Given the description of an element on the screen output the (x, y) to click on. 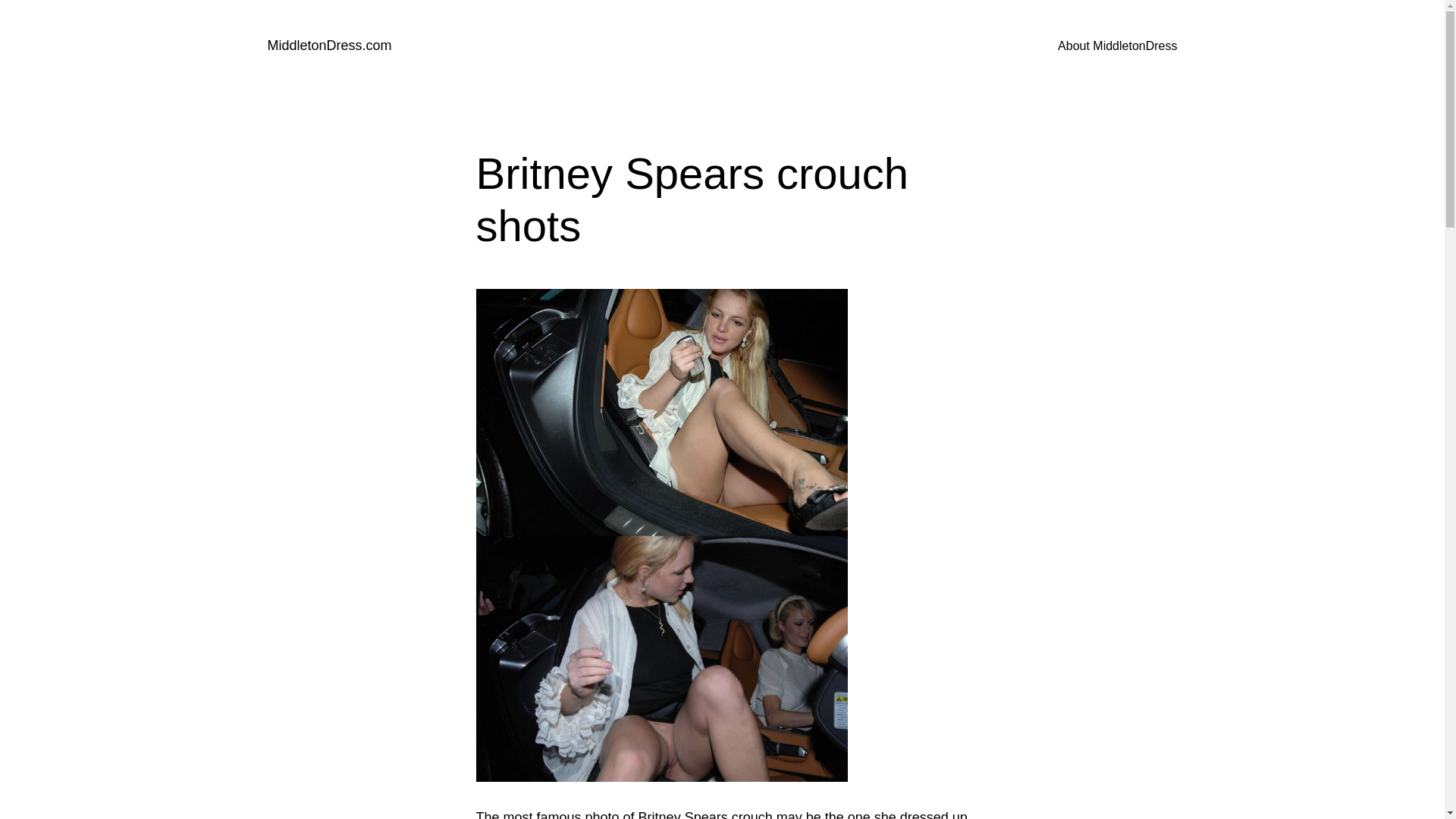
About MiddletonDress (1117, 46)
MiddletonDress.com (328, 45)
